Given the description of an element on the screen output the (x, y) to click on. 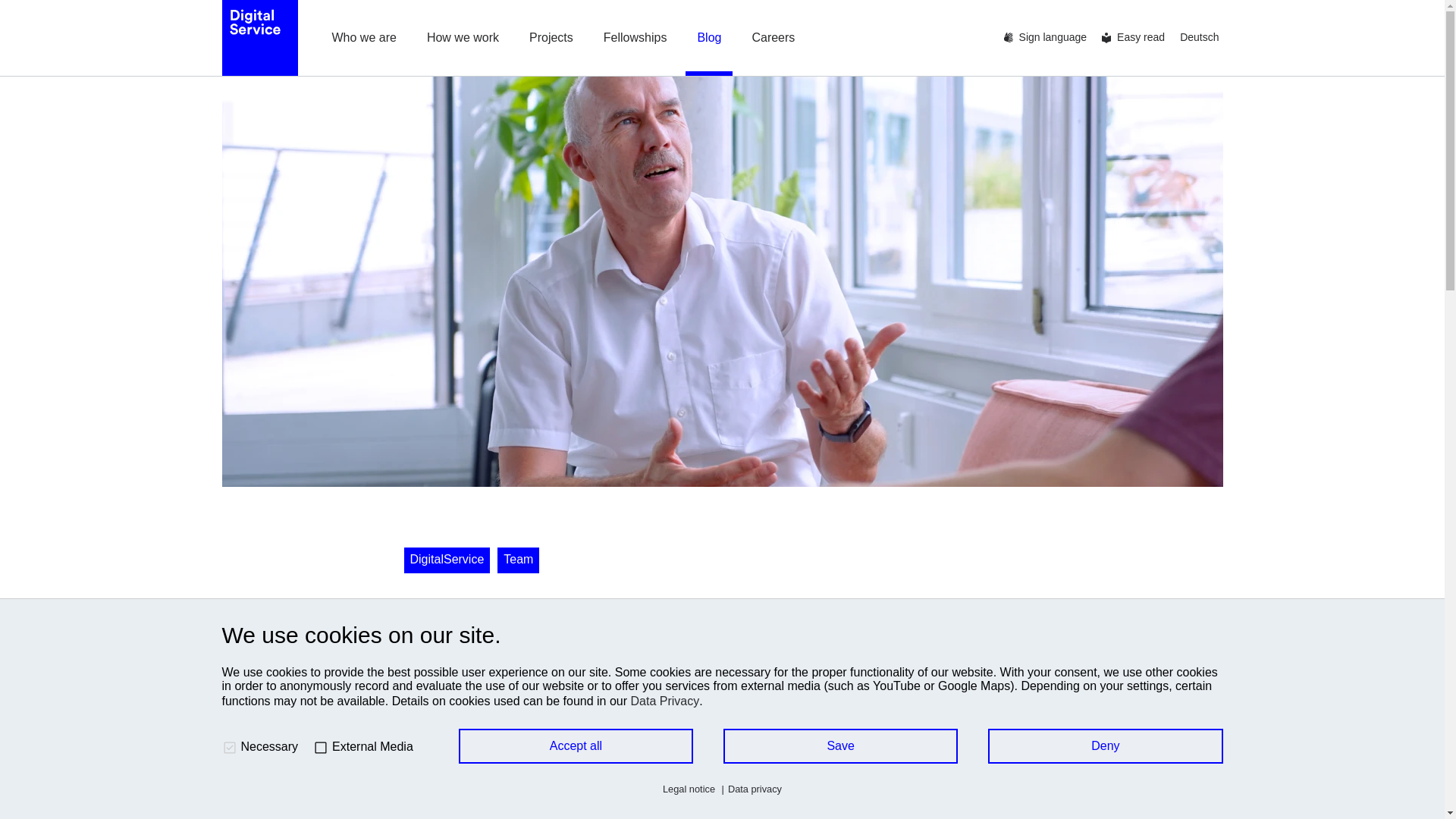
Fellowships (635, 38)
Data privacy (749, 788)
Legal notice (688, 788)
Easy read (1137, 38)
Data Privacy (665, 700)
Fellowships (635, 38)
Save (840, 745)
Who we are (363, 38)
How we work (462, 38)
Deny (1105, 745)
